Given the description of an element on the screen output the (x, y) to click on. 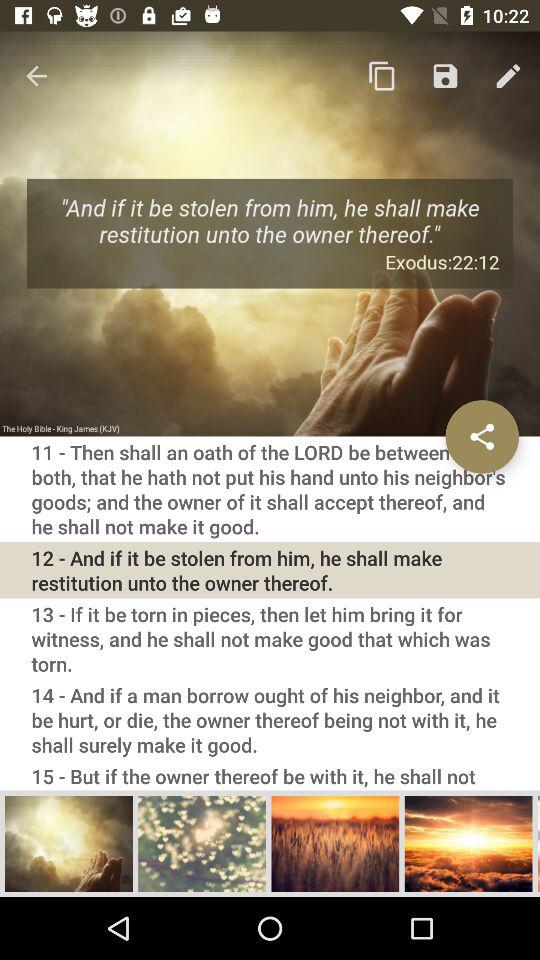
shows one of the option area (69, 843)
